Given the description of an element on the screen output the (x, y) to click on. 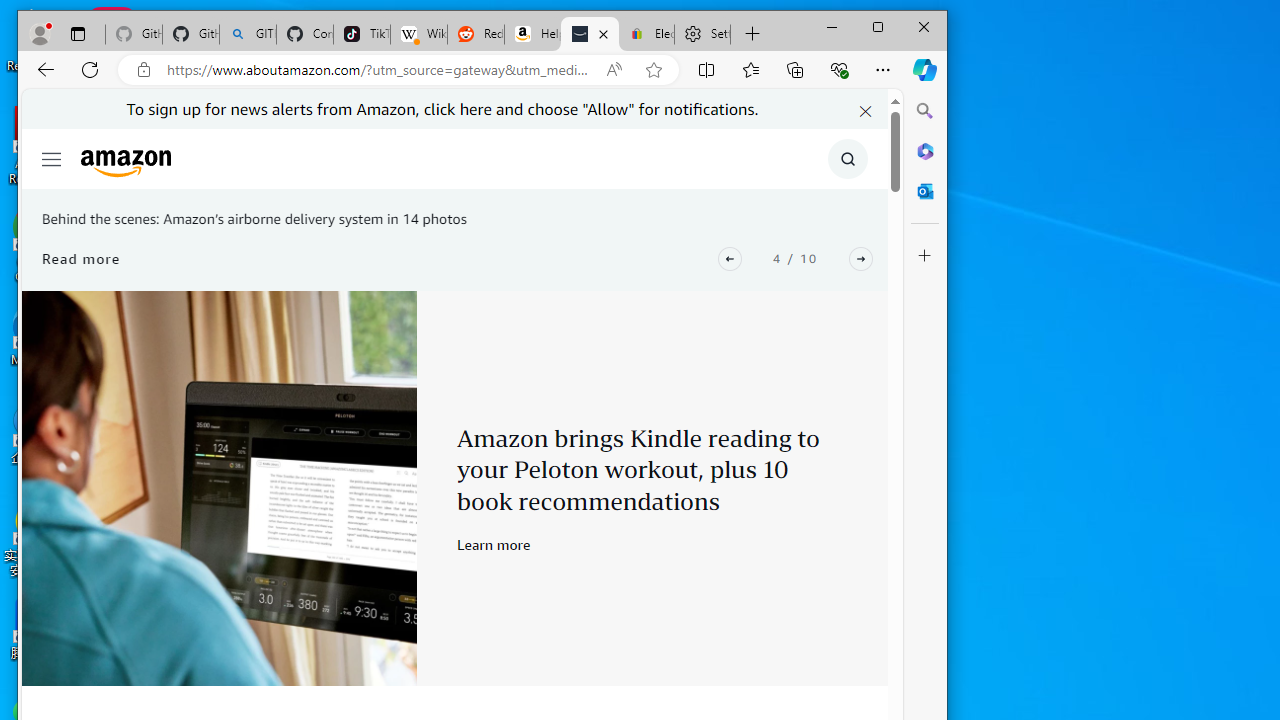
TikTok (362, 34)
Close tab (603, 34)
Wikipedia, the free encyclopedia (418, 34)
Settings (701, 34)
Next (860, 258)
Help & Contact Us - Amazon Customer Service (532, 34)
Electronics, Cars, Fashion, Collectibles & More | eBay (646, 34)
New Tab (752, 34)
Close Outlook pane (925, 190)
Settings and more (Alt+F) (882, 69)
View site information (143, 69)
Copilot (Ctrl+Shift+.) (925, 69)
